Given the description of an element on the screen output the (x, y) to click on. 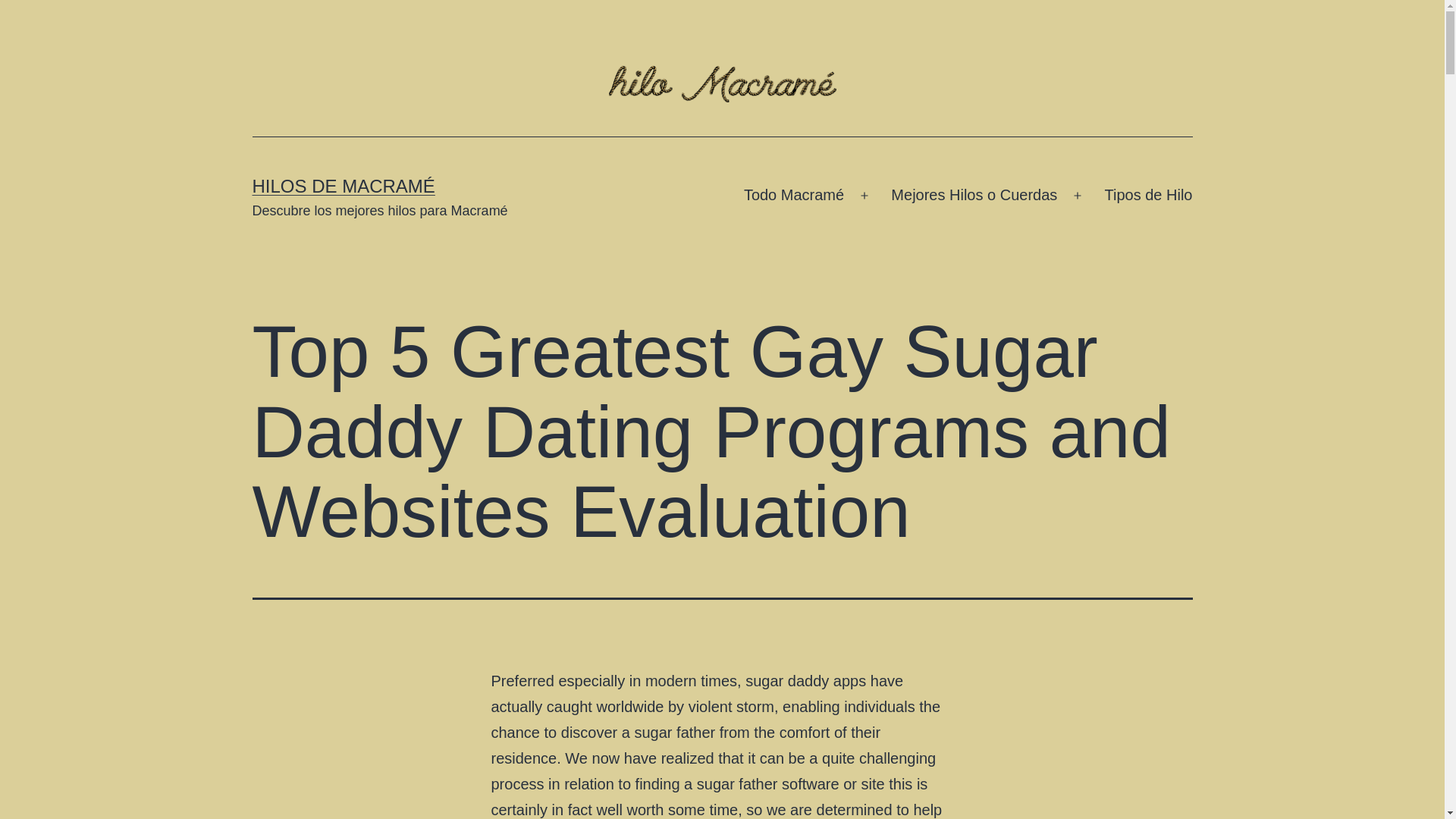
Tipos de Hilo (1148, 195)
Mejores Hilos o Cuerdas (973, 195)
